Given the description of an element on the screen output the (x, y) to click on. 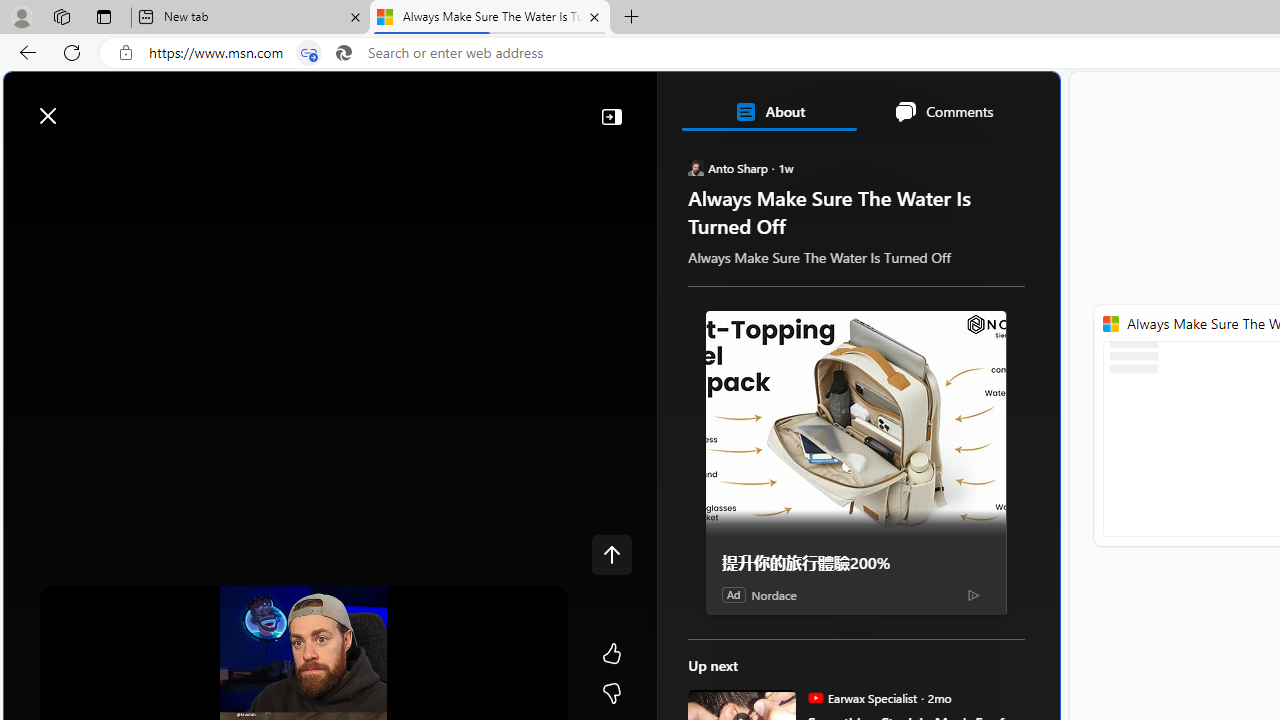
ABC News (760, 557)
Collapse (611, 115)
Open navigation menu (77, 162)
Comments (943, 111)
